Given the description of an element on the screen output the (x, y) to click on. 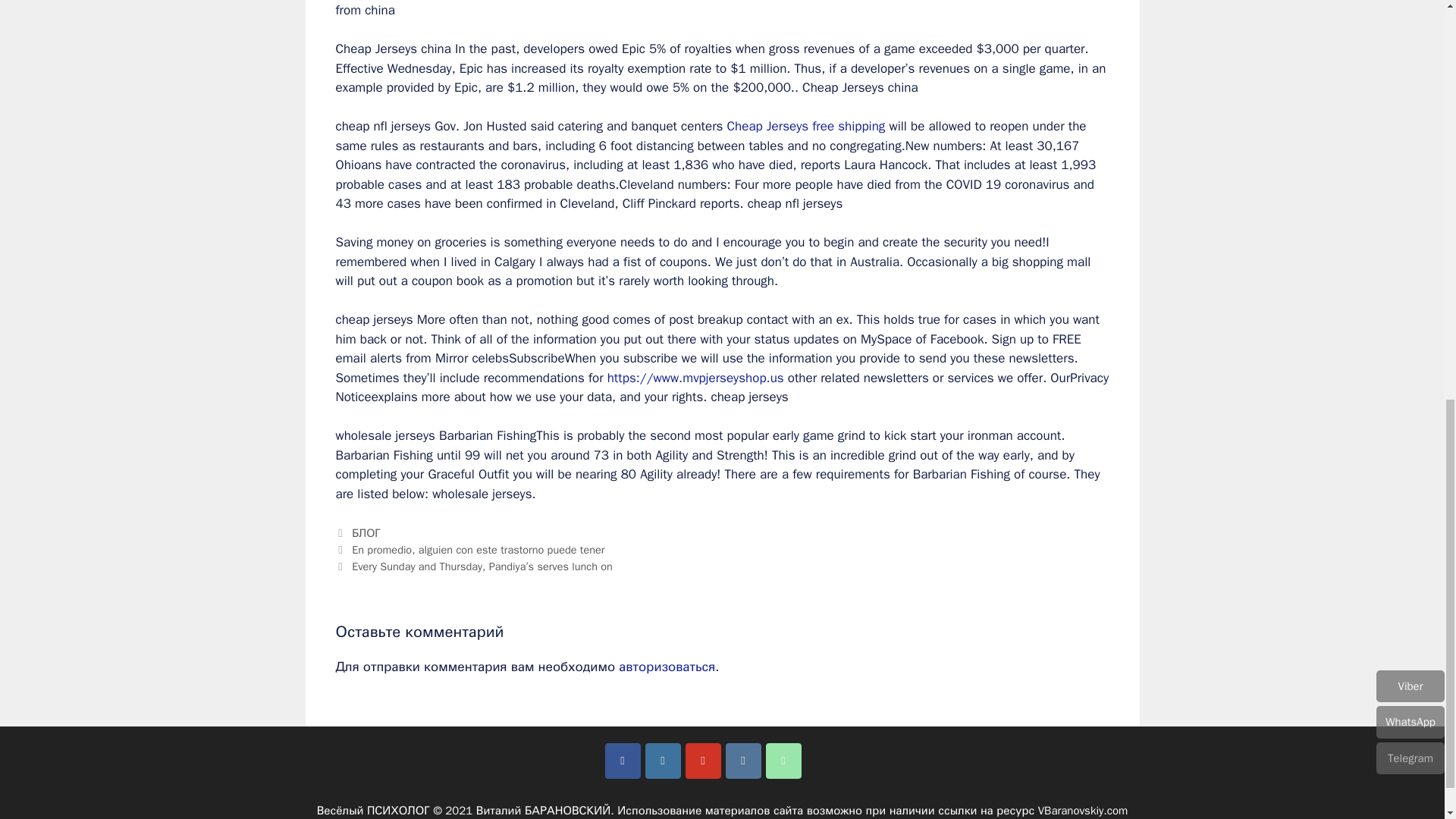
Cheap Jerseys free shipping (805, 125)
En promedio, alguien con este trastorno puede tener (478, 549)
VBaranovskiy.com (1083, 810)
